Given the description of an element on the screen output the (x, y) to click on. 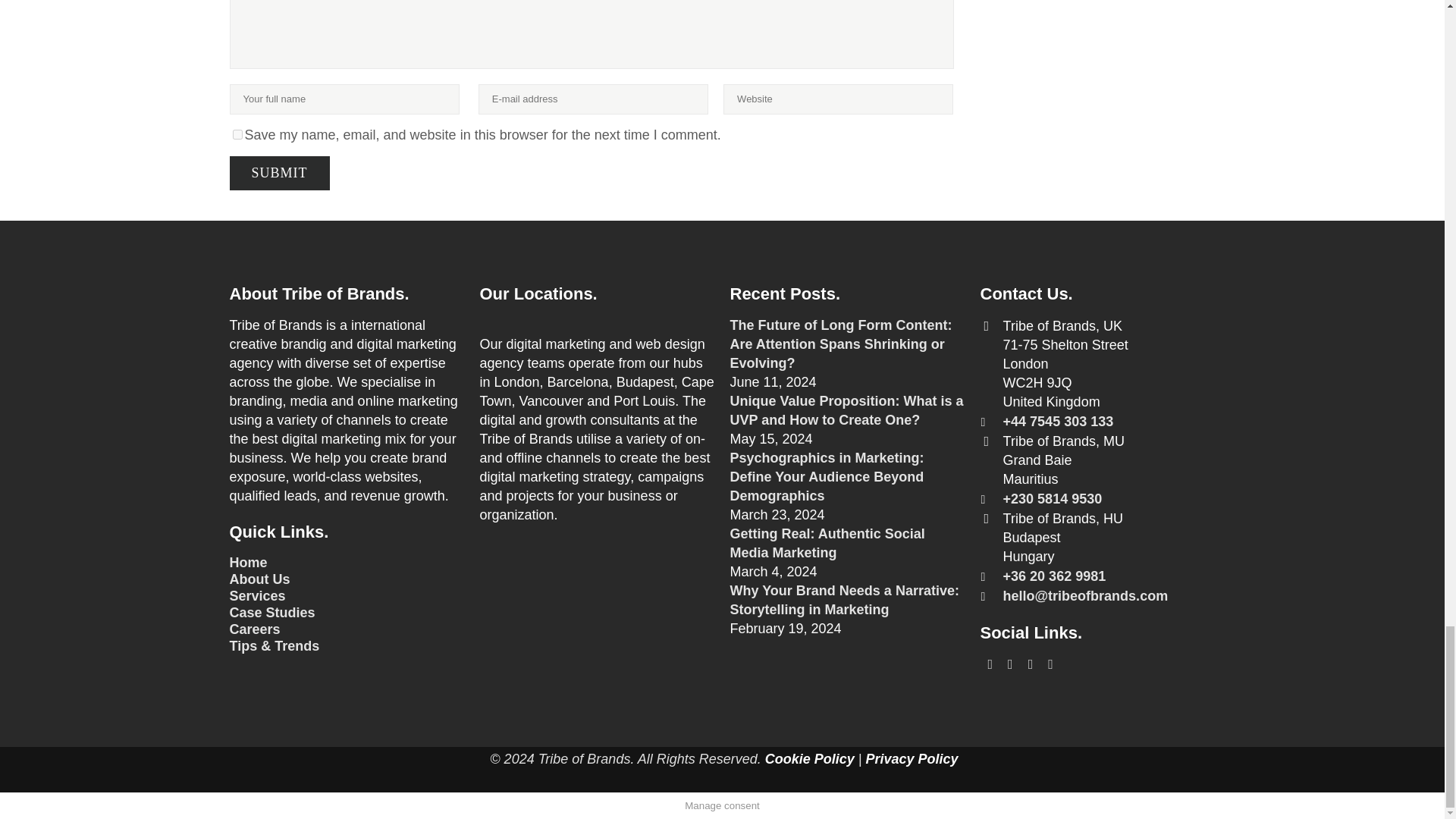
yes (236, 134)
Submit (278, 173)
Digital Marketing Agency, Webdesign Studio (256, 596)
